Given the description of an element on the screen output the (x, y) to click on. 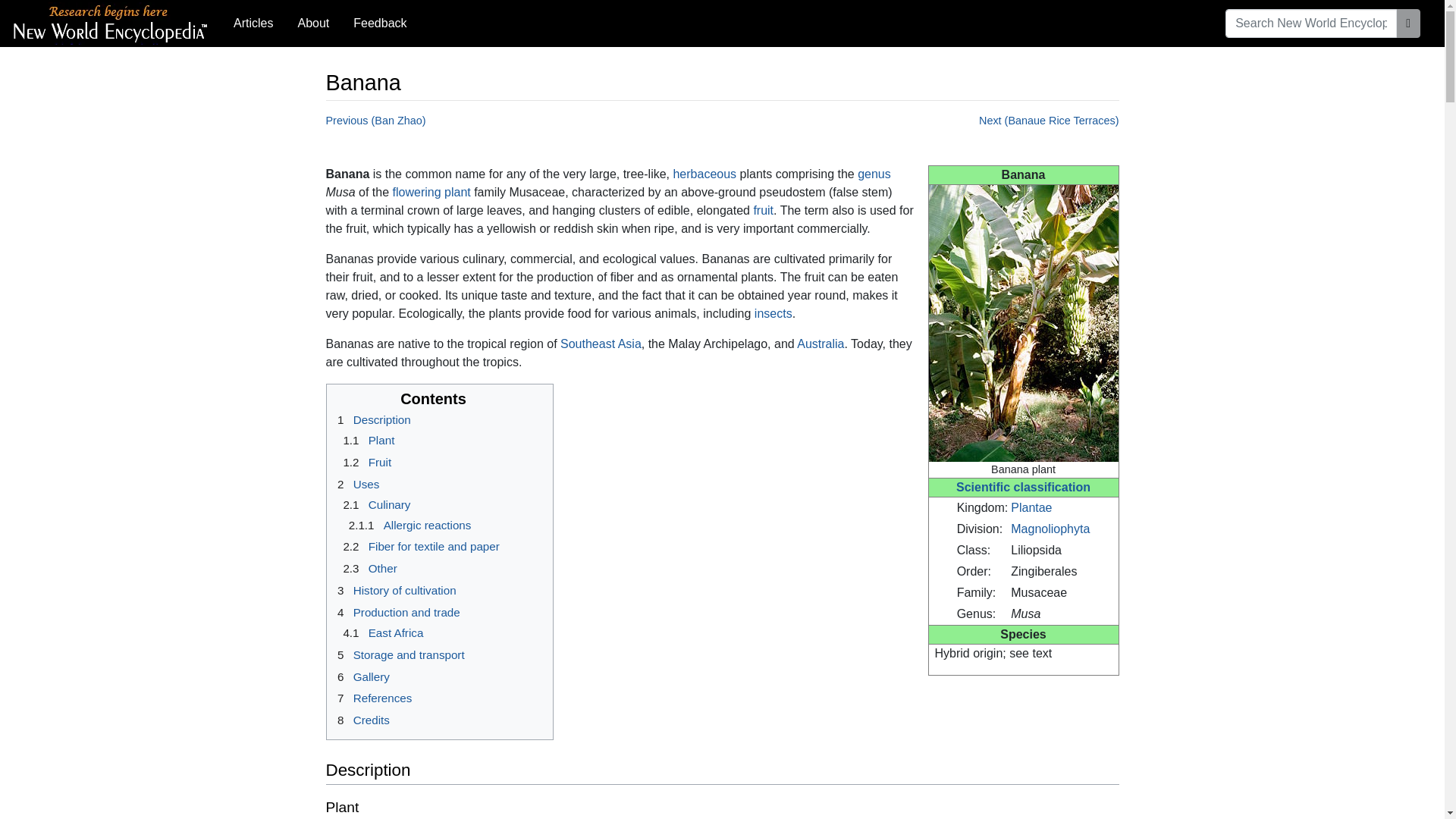
Visit the main page (110, 21)
Feedback (379, 23)
7 References (371, 697)
5 Storage and transport (397, 654)
Flowering plant (431, 192)
About (312, 23)
Plant (1030, 507)
Australia (820, 343)
1.1 Plant (365, 440)
Southeast Asia (601, 343)
4.1 East Africa (380, 632)
fruit (762, 210)
2.3 Other (367, 567)
Fruit (762, 210)
2.1 Culinary (373, 504)
